Given the description of an element on the screen output the (x, y) to click on. 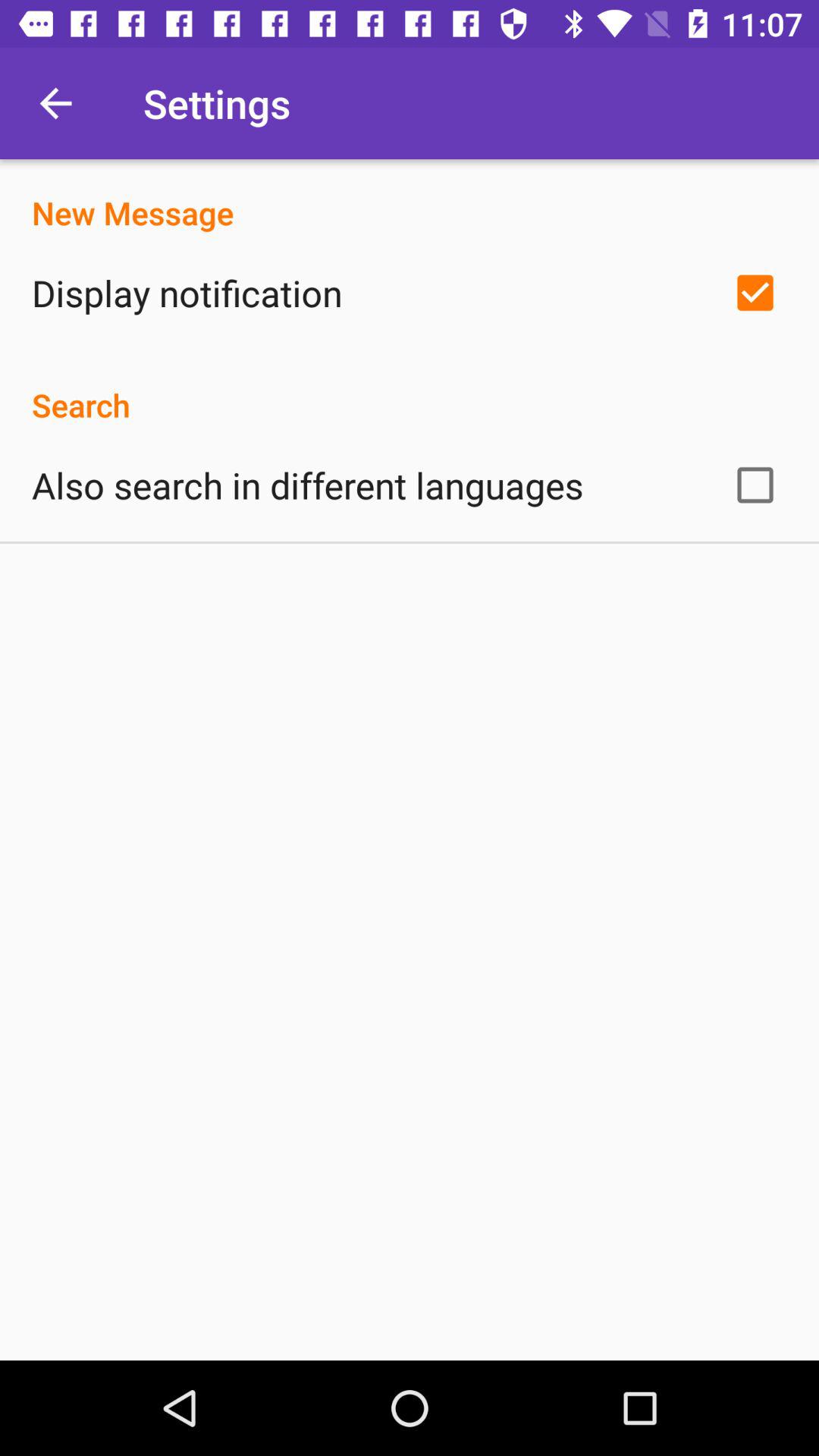
tap new message icon (409, 196)
